Given the description of an element on the screen output the (x, y) to click on. 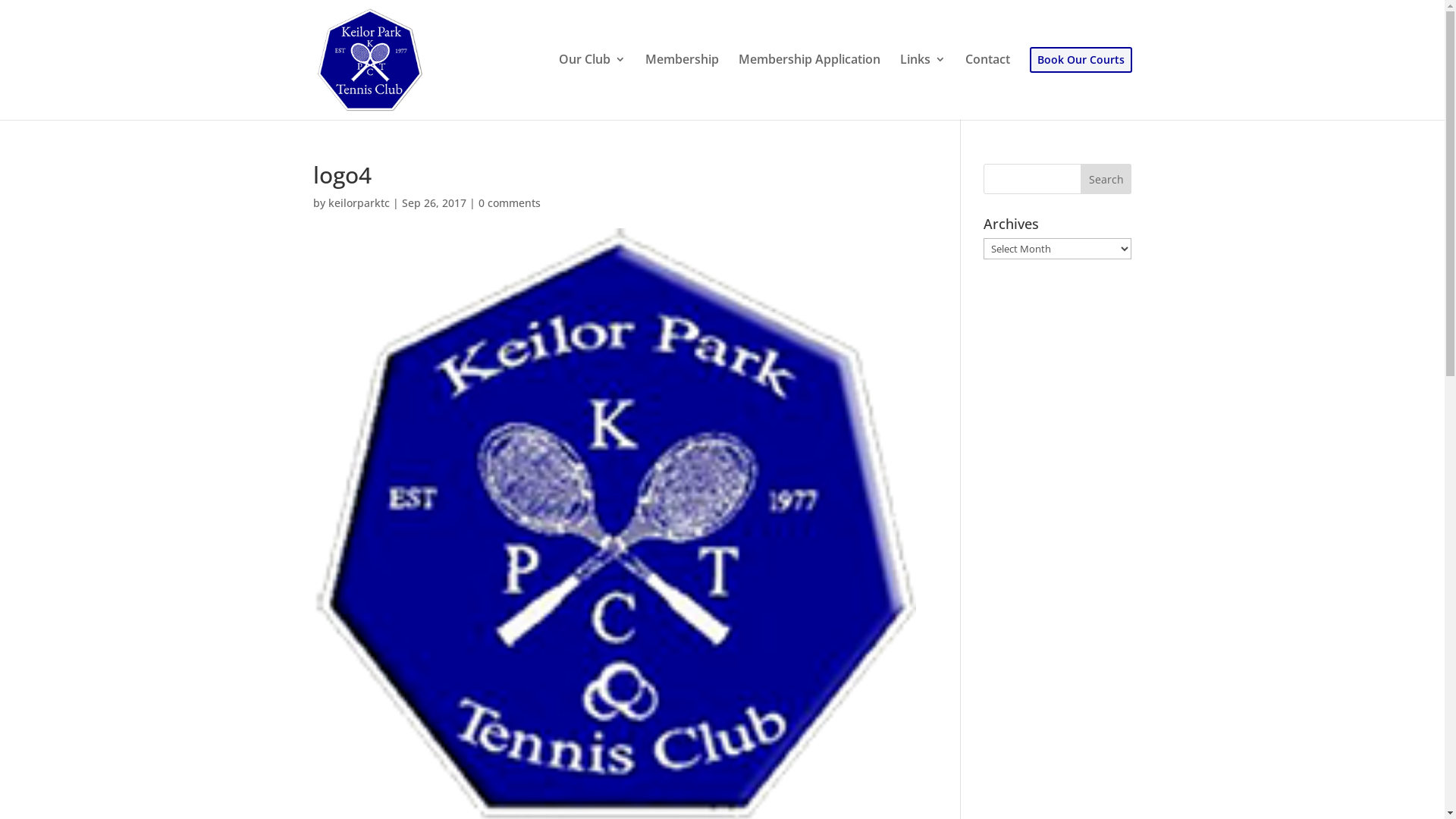
Search Element type: text (1106, 178)
Membership Element type: text (681, 85)
Membership Application Element type: text (809, 85)
Our Club Element type: text (591, 85)
Links Element type: text (921, 85)
keilorparktc Element type: text (358, 202)
Book Our Courts Element type: text (1080, 83)
Contact Element type: text (986, 85)
0 comments Element type: text (508, 202)
